Given the description of an element on the screen output the (x, y) to click on. 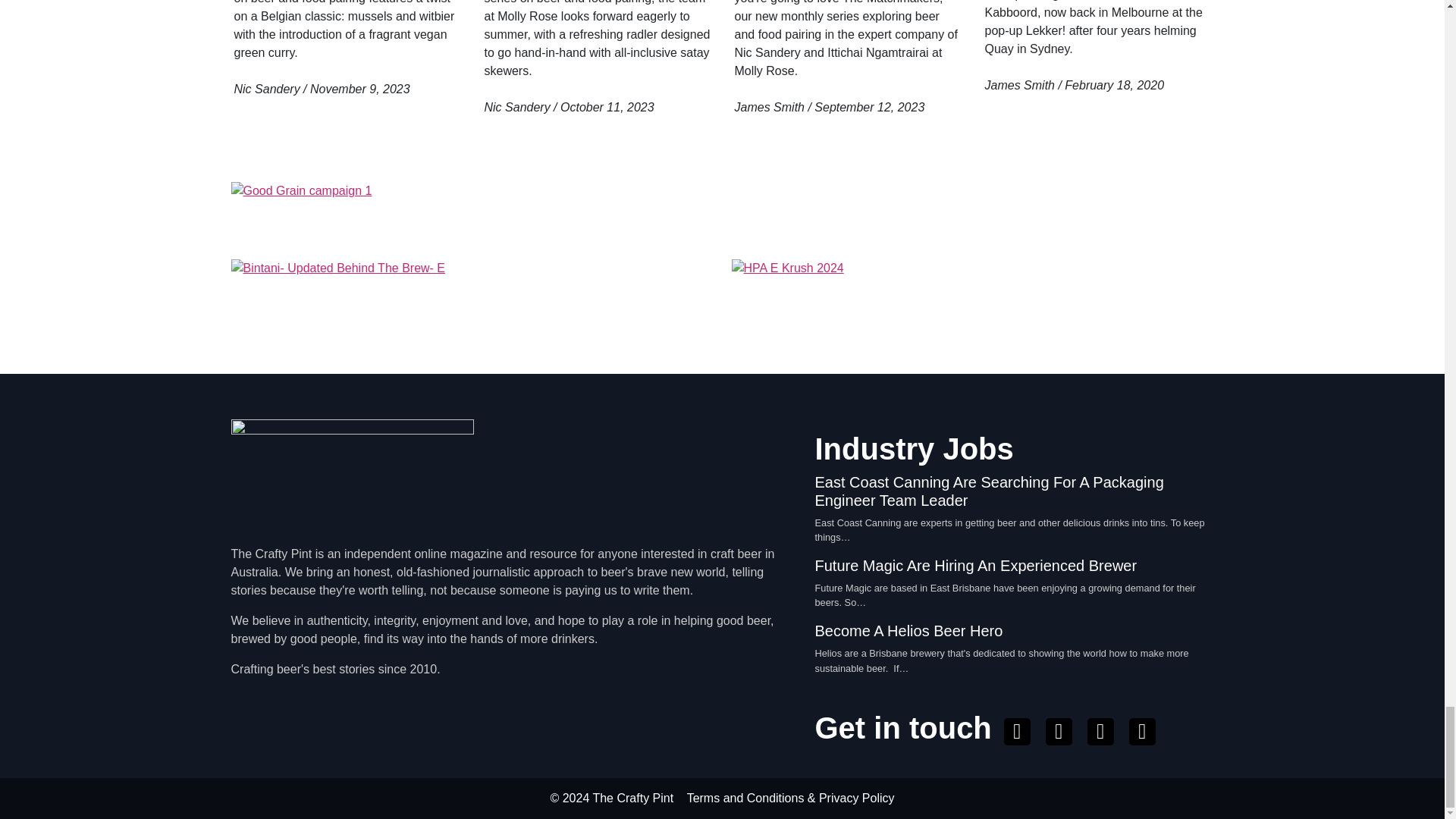
Good Grain campaign 1 (721, 214)
HPA E Krush 2024 (971, 299)
Bintani- Updated Behind The Brew- E (471, 299)
